Given the description of an element on the screen output the (x, y) to click on. 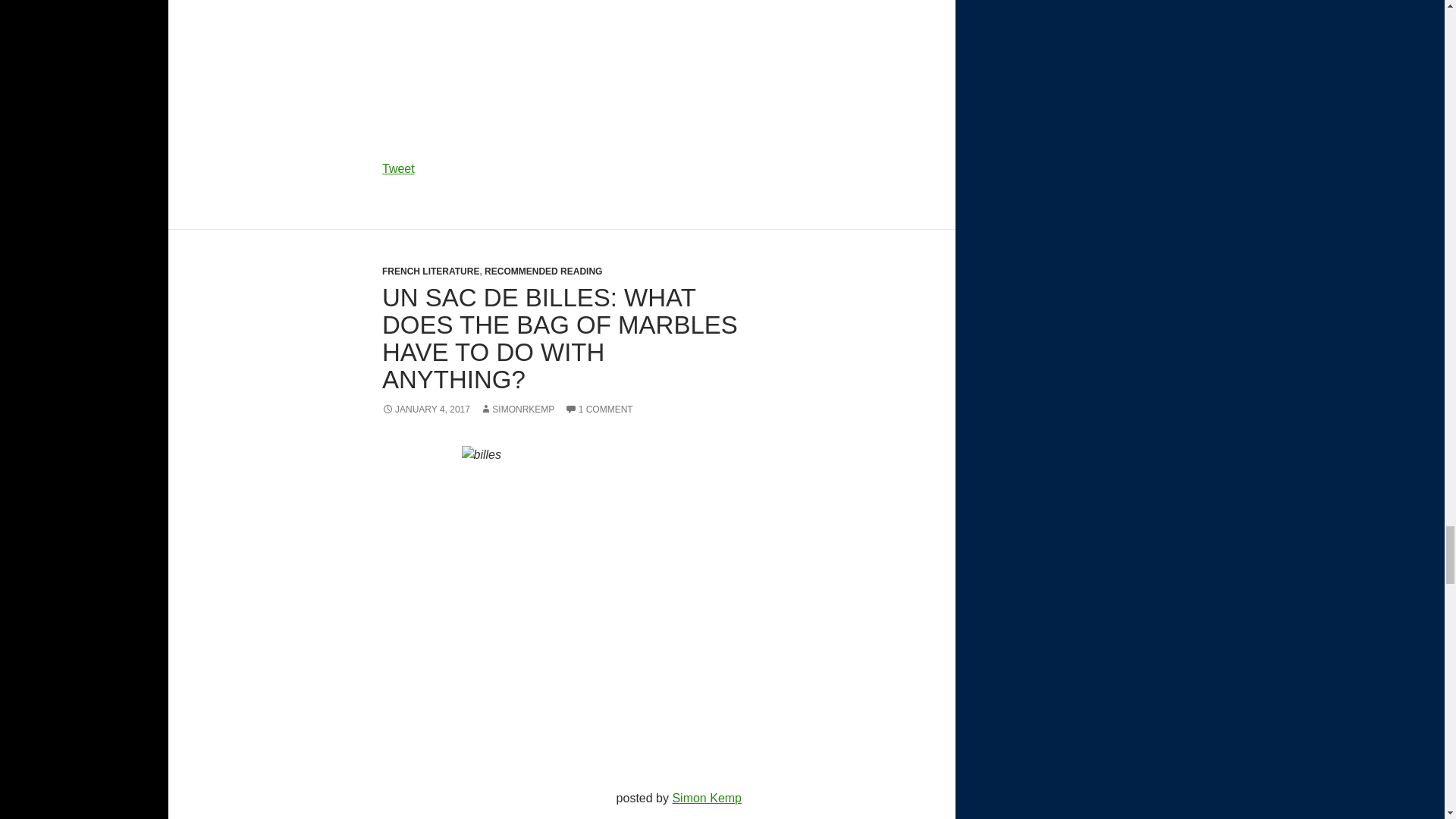
RECOMMENDED READING (543, 271)
FRENCH LITERATURE (430, 271)
JANUARY 4, 2017 (425, 409)
Tweet (397, 168)
